Given the description of an element on the screen output the (x, y) to click on. 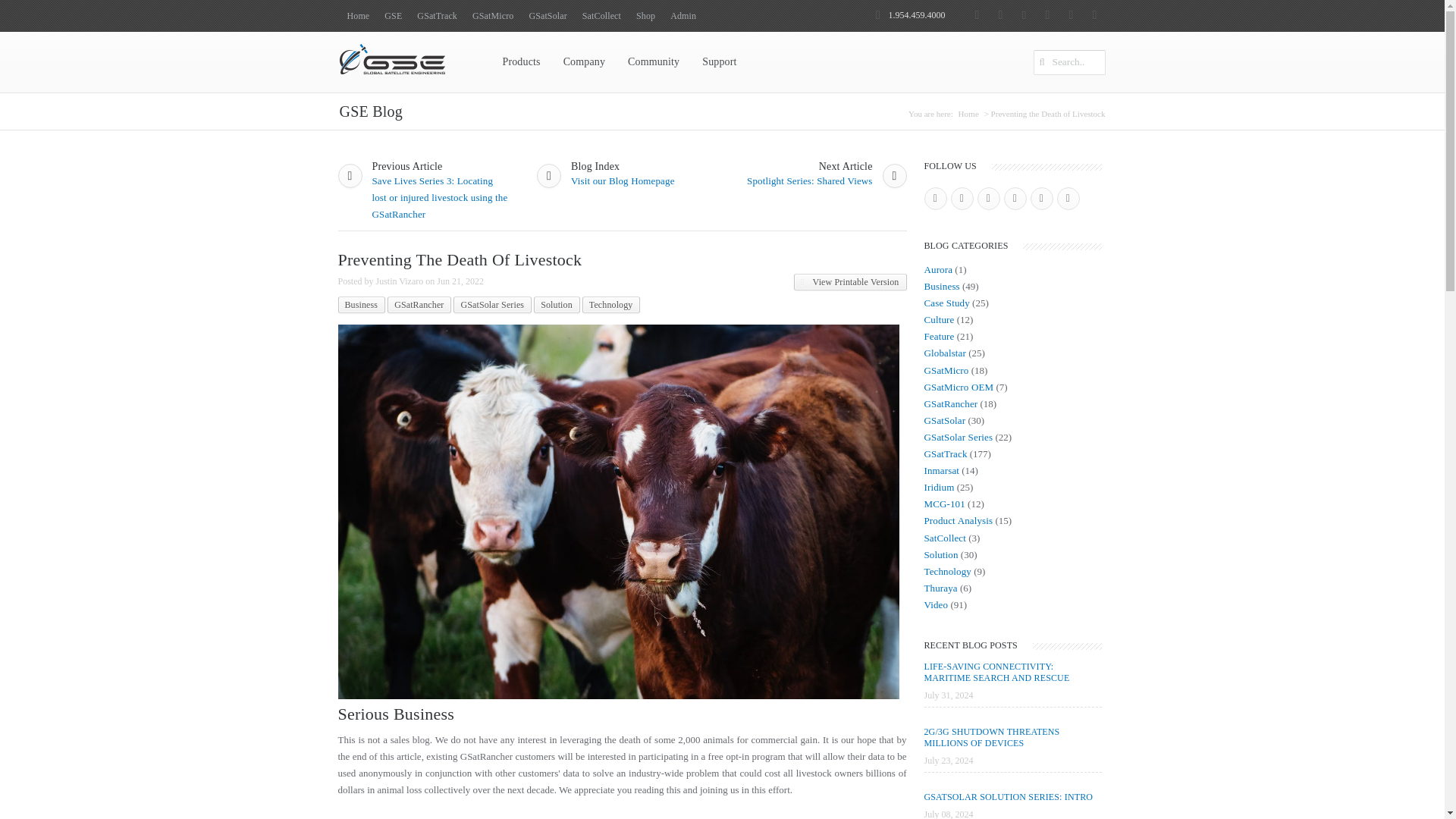
Products (521, 61)
GSatSolar (547, 15)
Company (583, 61)
SatCollect (601, 15)
Search.. (1068, 62)
Community (652, 61)
Admin (682, 15)
Home (358, 15)
Home (968, 112)
GSE (393, 15)
